Given the description of an element on the screen output the (x, y) to click on. 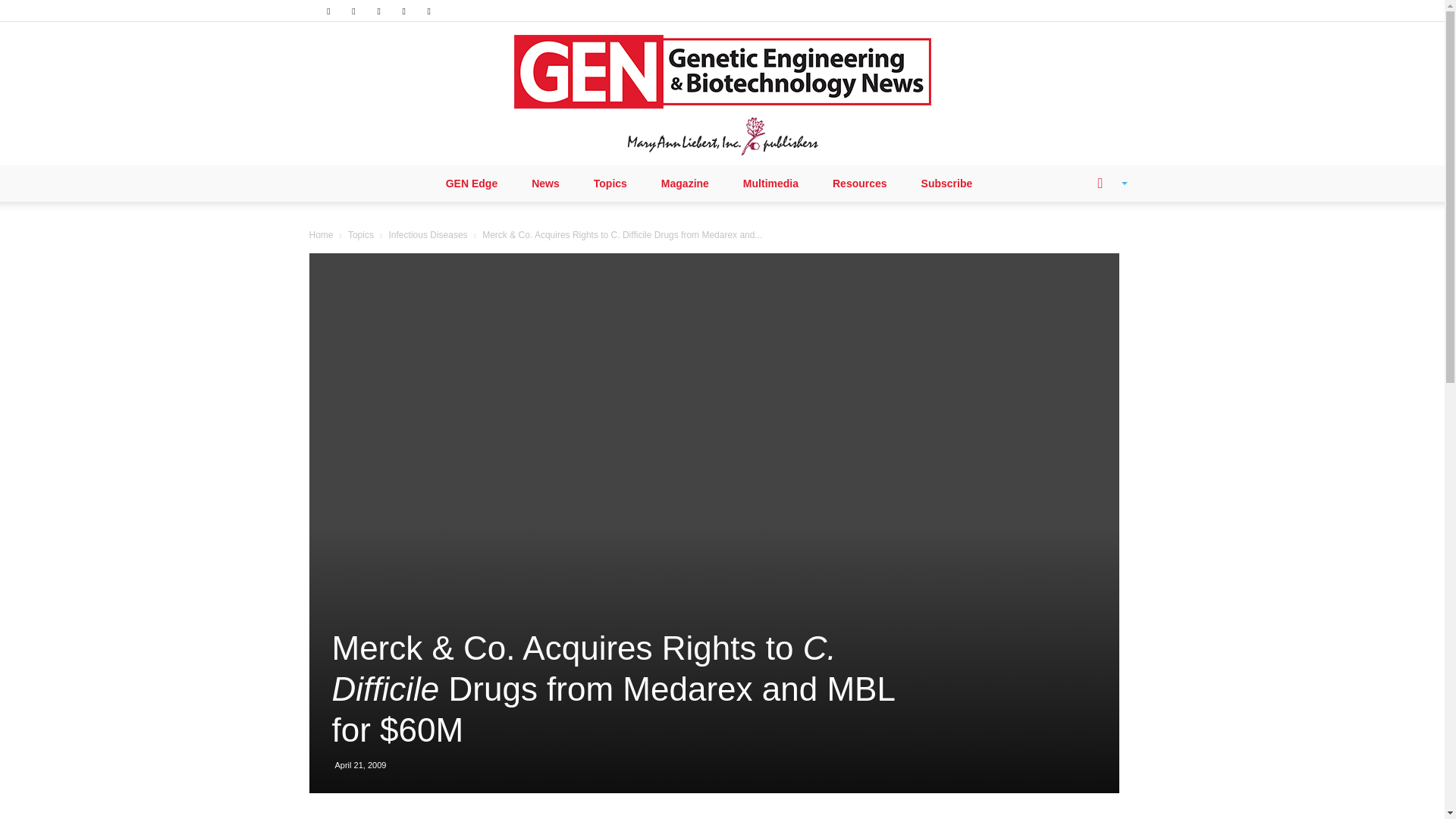
View all posts in Infectious Diseases (427, 235)
Facebook (328, 10)
RSS (379, 10)
Youtube (429, 10)
View all posts in Topics (360, 235)
Twitter (403, 10)
Linkedin (353, 10)
